Given the description of an element on the screen output the (x, y) to click on. 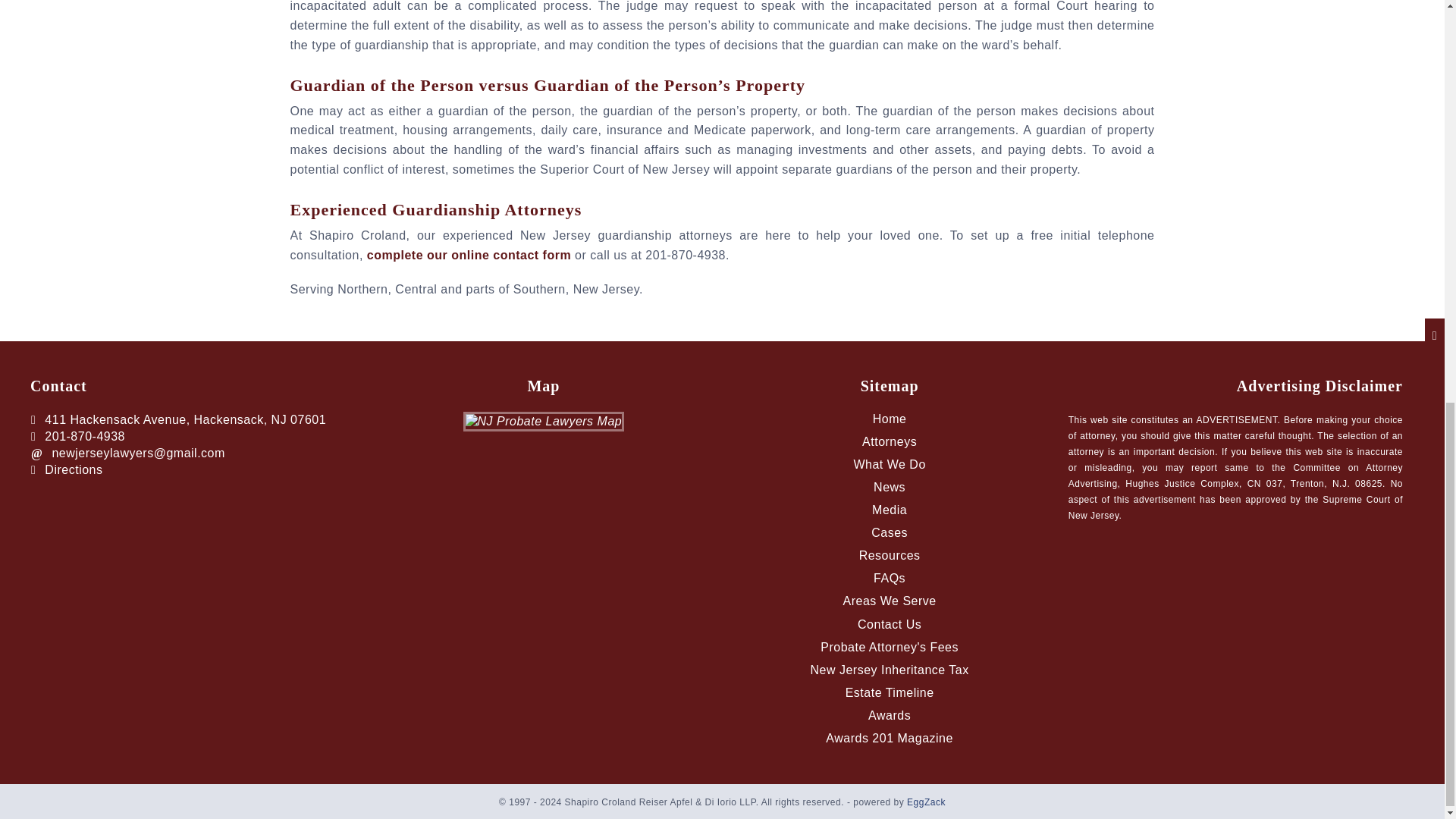
NJ Probate Lawyers Map (543, 420)
More Local Sales. Guaranteed! (925, 801)
